Given the description of an element on the screen output the (x, y) to click on. 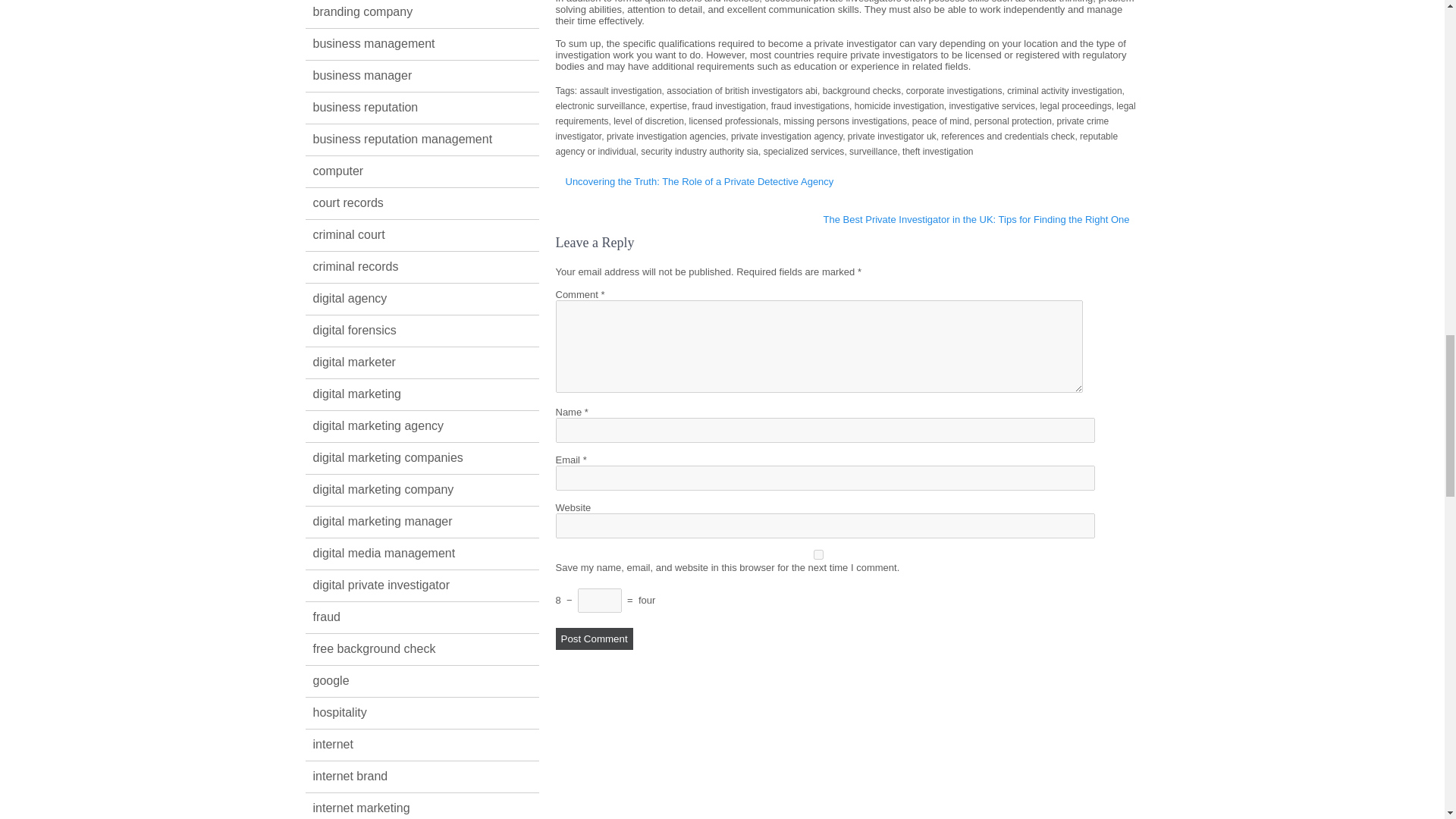
security industry authority sia (699, 151)
peace of mind (940, 121)
reputable agency or individual (836, 144)
surveillance (872, 151)
private investigation agencies (666, 136)
background checks (861, 90)
level of discretion (648, 121)
legal proceedings (1076, 105)
investigative services (992, 105)
legal requirements (844, 113)
